Given the description of an element on the screen output the (x, y) to click on. 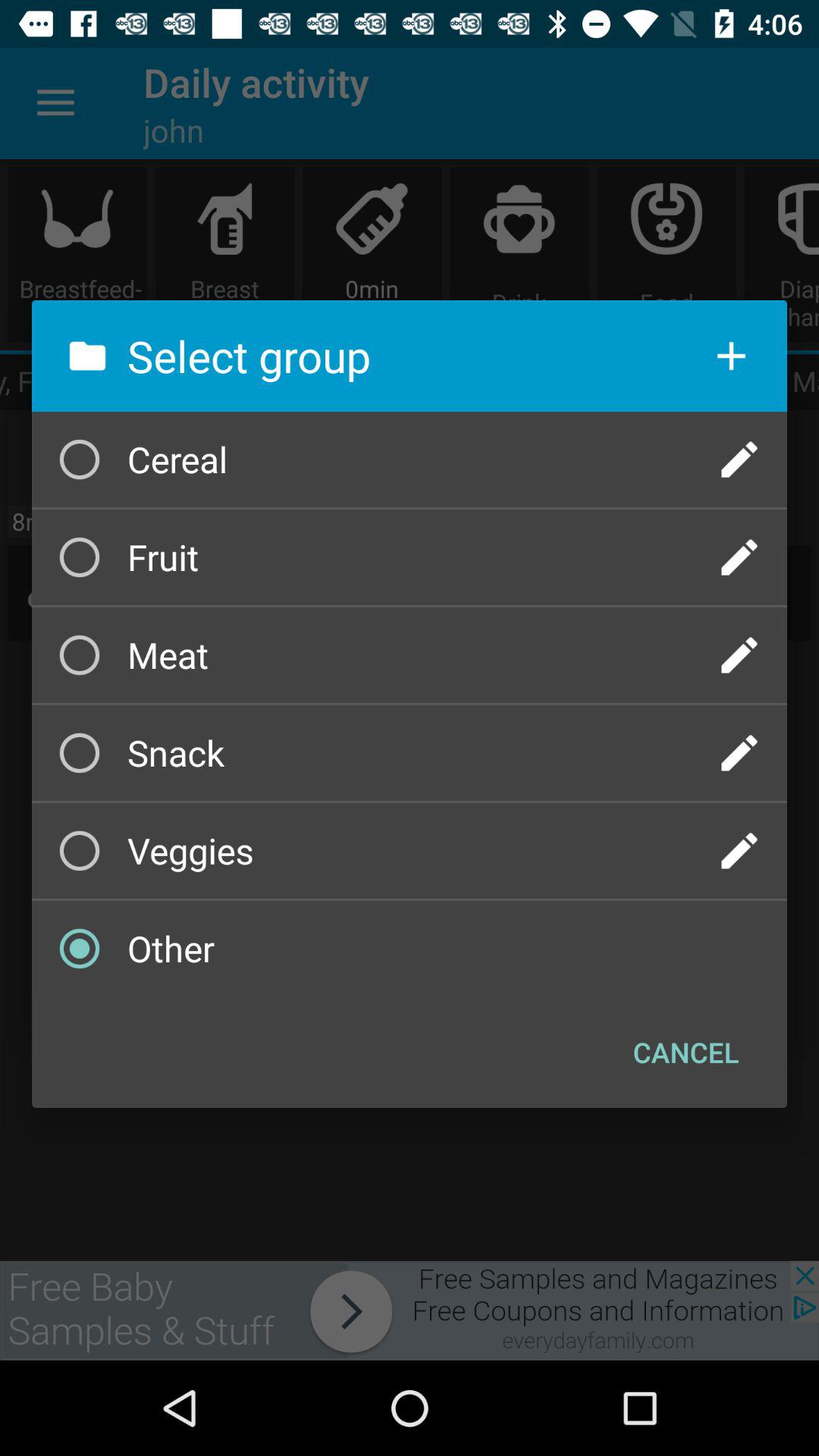
go to select group (739, 654)
